Given the description of an element on the screen output the (x, y) to click on. 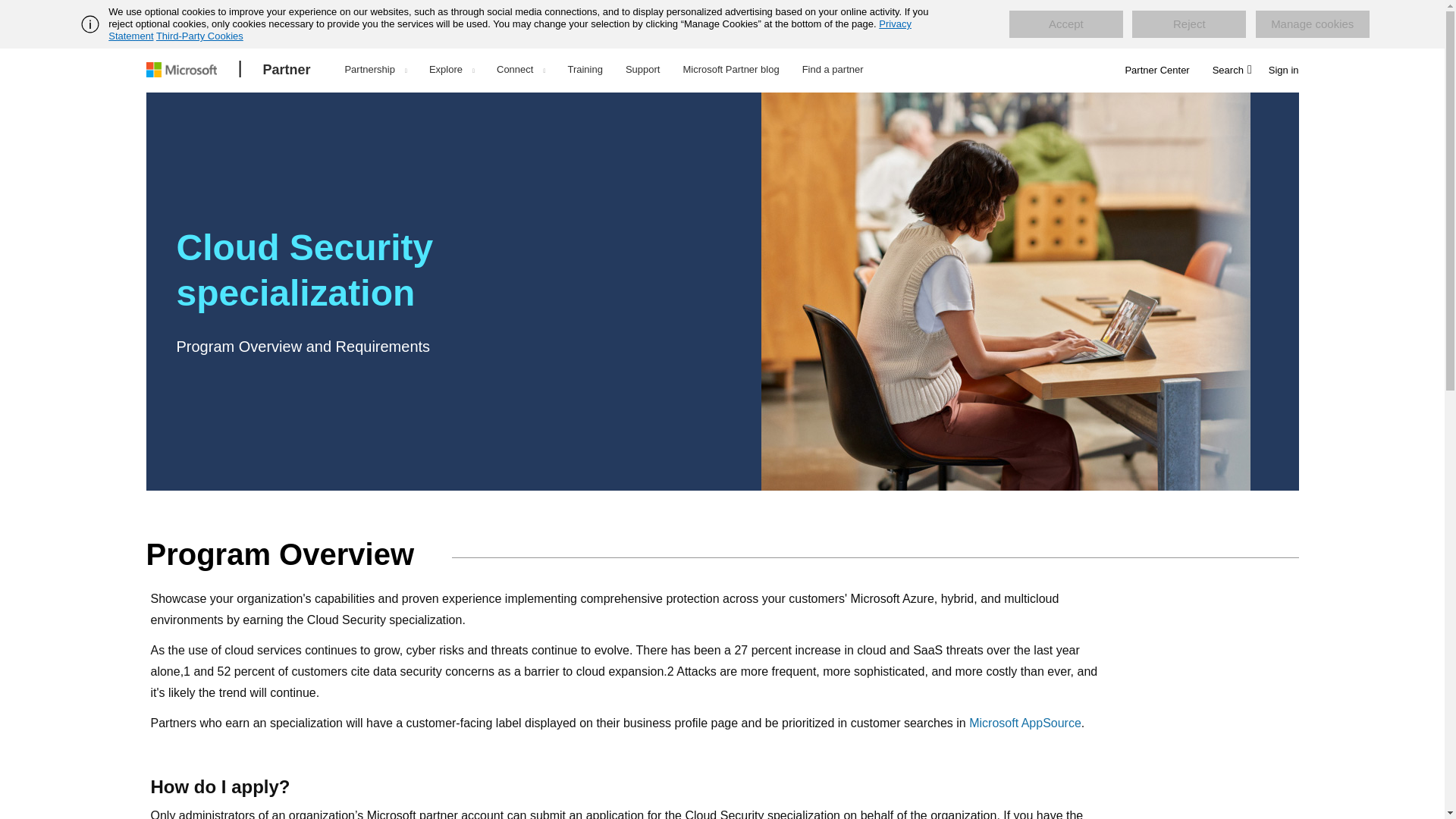
Third-Party Cookies (199, 35)
Sign in (1283, 70)
Reject (1189, 23)
Accept (1065, 23)
Search (1230, 70)
Microsoft AppSource (1025, 722)
Manage cookies (1312, 23)
Partner (286, 69)
Privacy Statement (509, 29)
Partnership (374, 70)
